Given the description of an element on the screen output the (x, y) to click on. 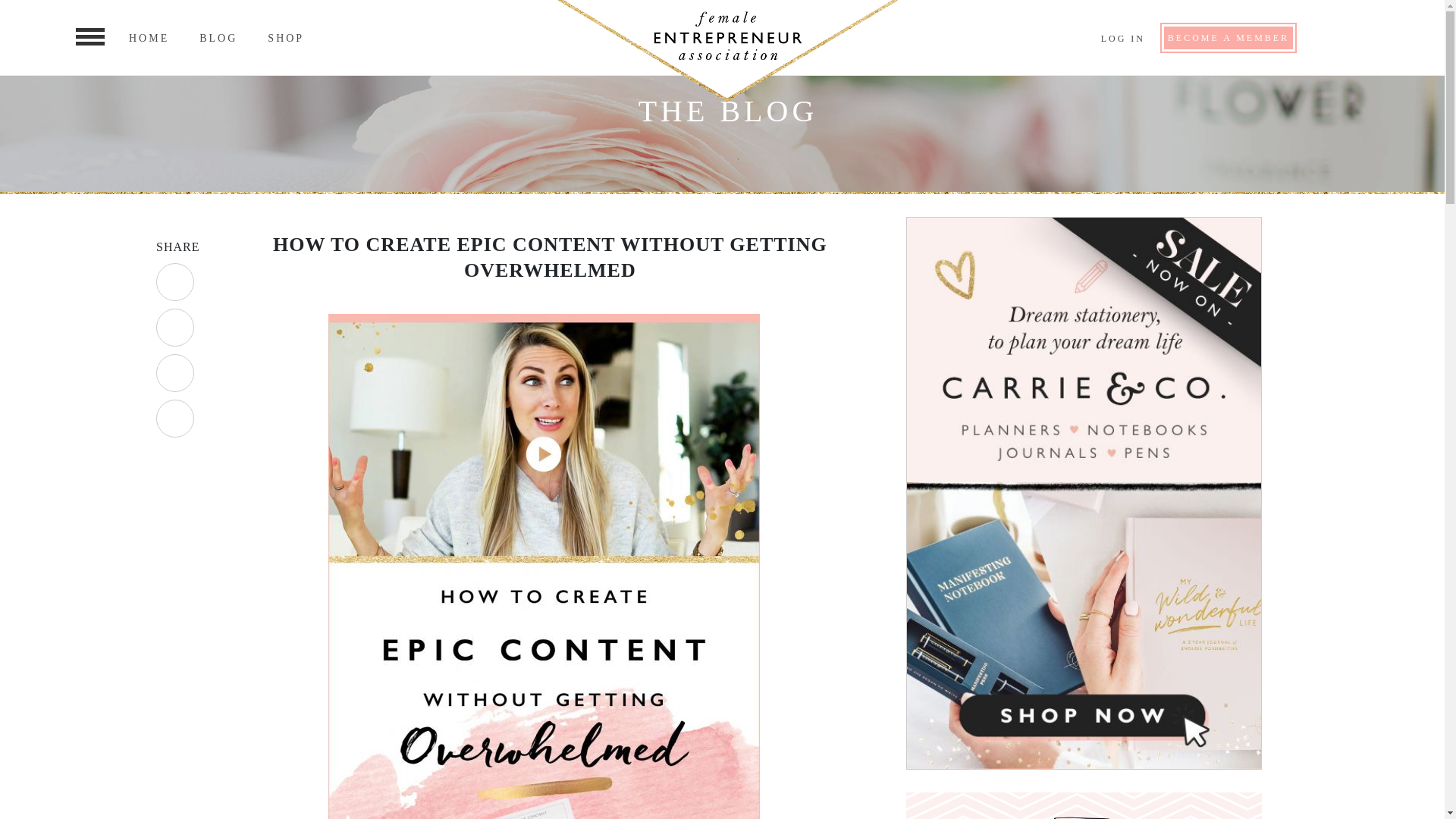
BECOME A MEMBER (1227, 36)
HOME (148, 37)
SHOP (285, 37)
LOG IN (1122, 38)
BLOG (218, 37)
